Given the description of an element on the screen output the (x, y) to click on. 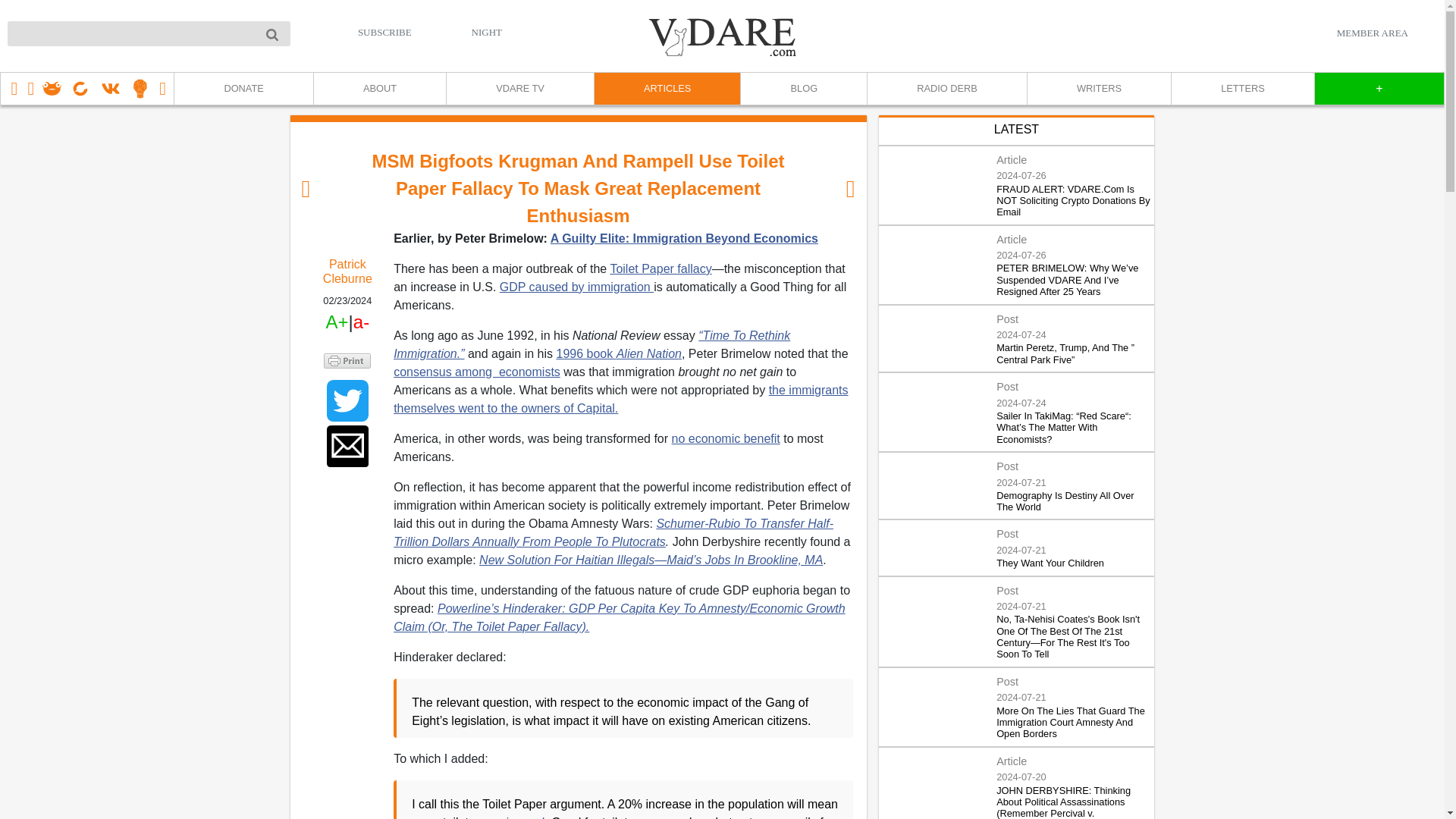
ARTICLES (666, 88)
DONATE (243, 88)
Share to Twitter (347, 400)
VDARE TV (519, 88)
LETTERS (1242, 88)
BLOG (802, 88)
ABOUT (379, 88)
RADIO DERB (946, 88)
Share to Email (347, 445)
Printer Friendly and PDF (347, 360)
SUBSCRIBE (385, 31)
WRITERS (1098, 88)
MEMBER AREA (1371, 32)
